Given the description of an element on the screen output the (x, y) to click on. 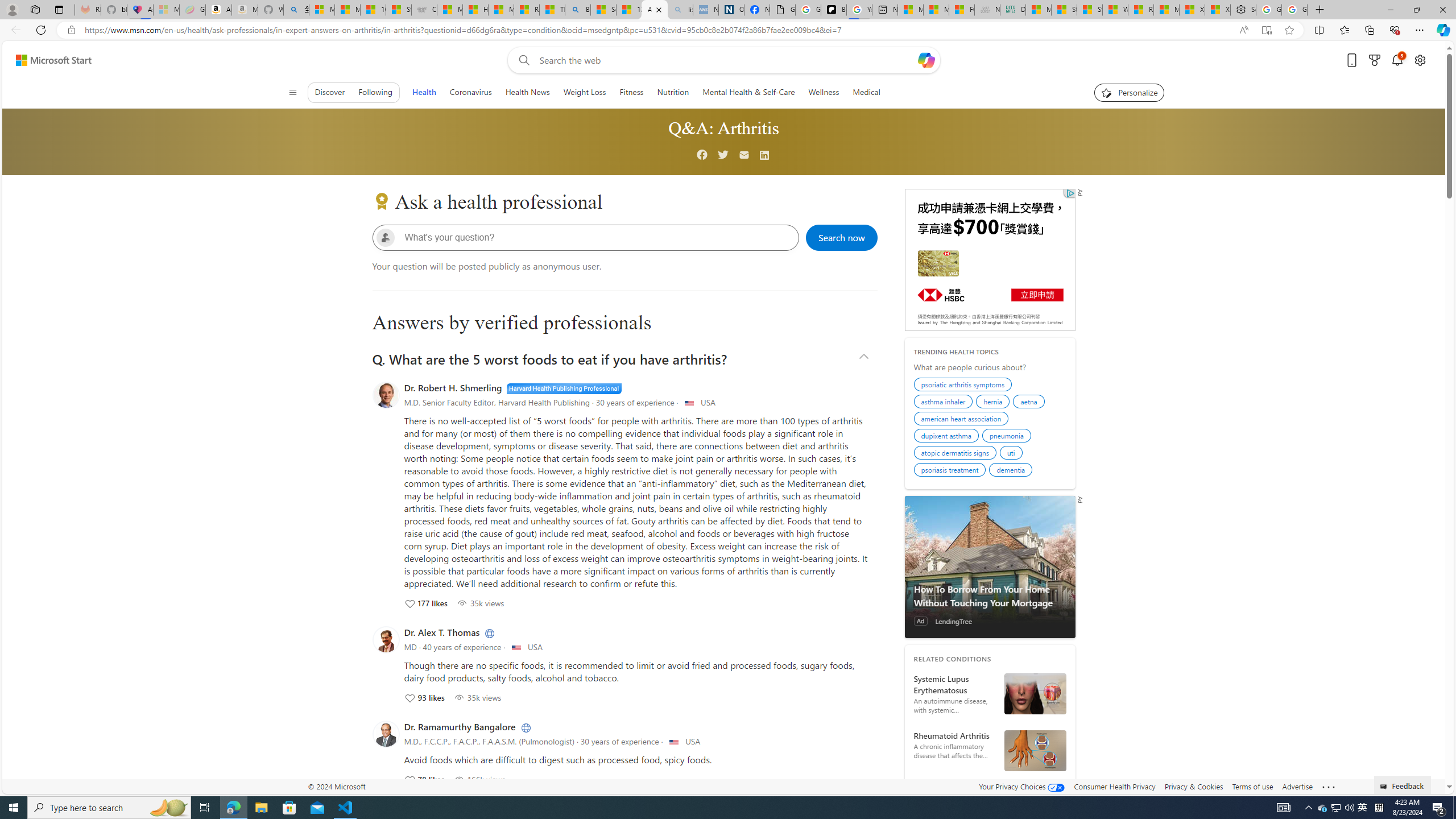
Harvard health publishing professional (563, 387)
Mail (744, 155)
